Given the description of an element on the screen output the (x, y) to click on. 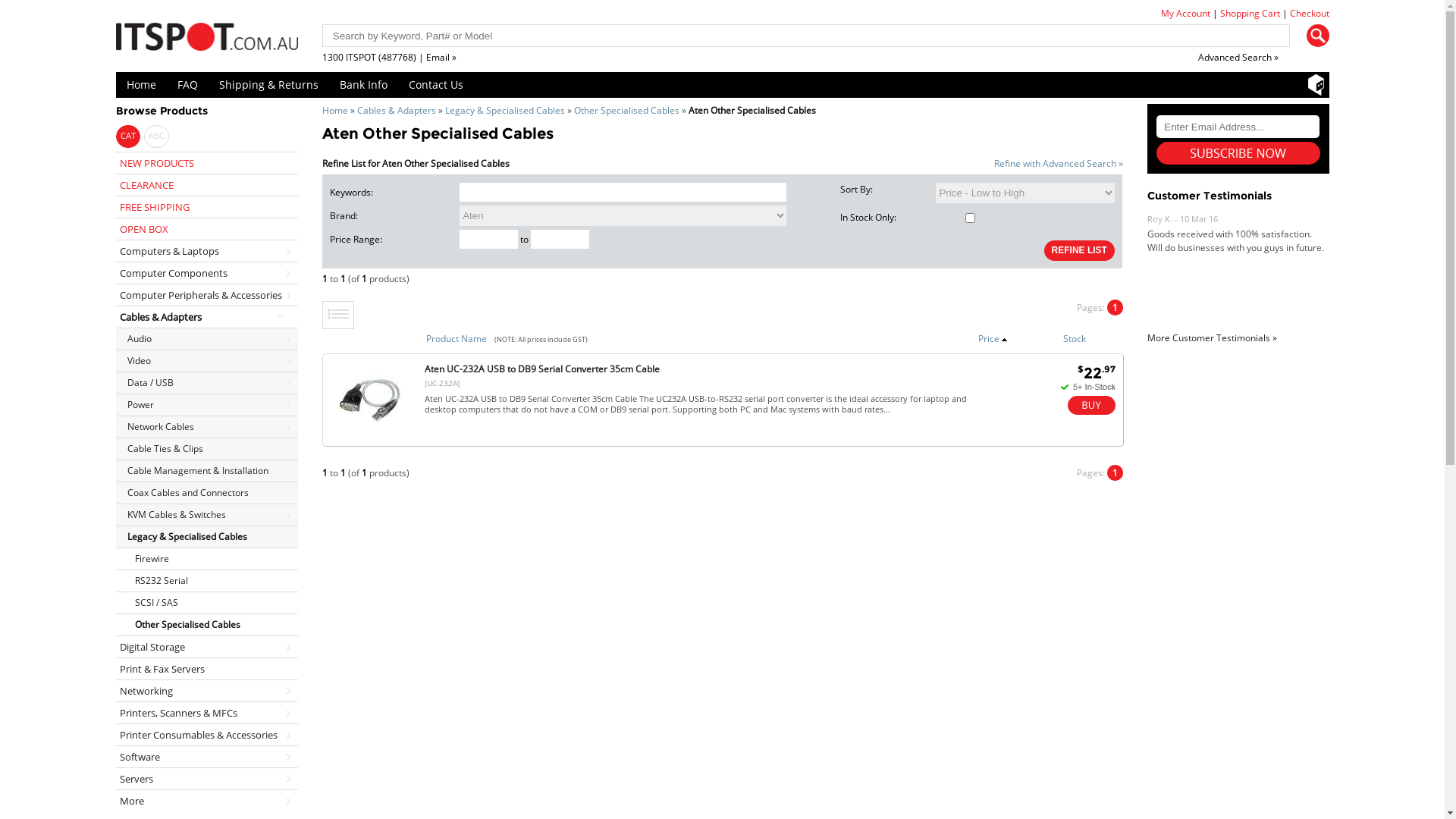
Computer Components Element type: text (206, 272)
Other Specialised Cables Element type: text (206, 624)
CAT Element type: text (127, 136)
Legacy & Specialised Cables Element type: text (504, 109)
Other Specialised Cables Element type: text (625, 109)
Printer Consumables & Accessories Element type: text (206, 734)
Audio Element type: text (206, 338)
Stock Element type: text (1074, 338)
Product Name Element type: text (456, 338)
Firewire Element type: text (206, 558)
Checkout Element type: text (1308, 13)
Cable Management & Installation Element type: text (206, 470)
OPEN BOX Element type: text (206, 228)
Shopping Cart Element type: text (1249, 13)
FAQ Element type: text (187, 84)
Data / USB Element type: text (206, 382)
Subscribe Element type: hover (1237, 152)
SCSI / SAS Element type: text (206, 602)
Contact Us Element type: text (435, 84)
Shipping & Returns Element type: text (267, 84)
Digital Storage Element type: text (206, 646)
Legacy & Specialised Cables Element type: text (206, 536)
Cables & Adapters Element type: text (206, 316)
Aten UC-232A USB to DB9 Serial | ITSpot Computer Components Element type: hover (369, 434)
RS232 Serial Element type: text (206, 580)
Cable Ties & Clips Element type: text (206, 448)
Computers & Laptops Element type: text (206, 250)
FREE SHIPPING Element type: text (206, 206)
Shopbot Element type: hover (1315, 84)
Aten UC-232A USB to DB9 Serial Converter 35cm Cable Element type: text (541, 368)
Servers Element type: text (206, 778)
CLEARANCE Element type: text (206, 184)
Price Element type: text (992, 338)
Home Element type: text (140, 84)
My Account Element type: text (1184, 13)
Networking Element type: text (206, 690)
More Element type: text (206, 800)
Cables & Adapters Element type: text (395, 109)
Power Element type: text (206, 404)
Video Element type: text (206, 360)
Bank Info Element type: text (363, 84)
Software Element type: text (206, 756)
ITSpot Online Computer Store Element type: hover (206, 36)
Network Cables Element type: text (206, 426)
Coax Cables and Connectors Element type: text (206, 492)
ABC Element type: text (156, 136)
Printers, Scanners & MFCs Element type: text (206, 712)
KVM Cables & Switches Element type: text (206, 514)
Print & Fax Servers Element type: text (206, 668)
REFINE LIST Element type: text (1079, 250)
NEW PRODUCTS Element type: text (206, 162)
Home Element type: text (334, 109)
Computer Peripherals & Accessories Element type: text (206, 294)
